Given the description of an element on the screen output the (x, y) to click on. 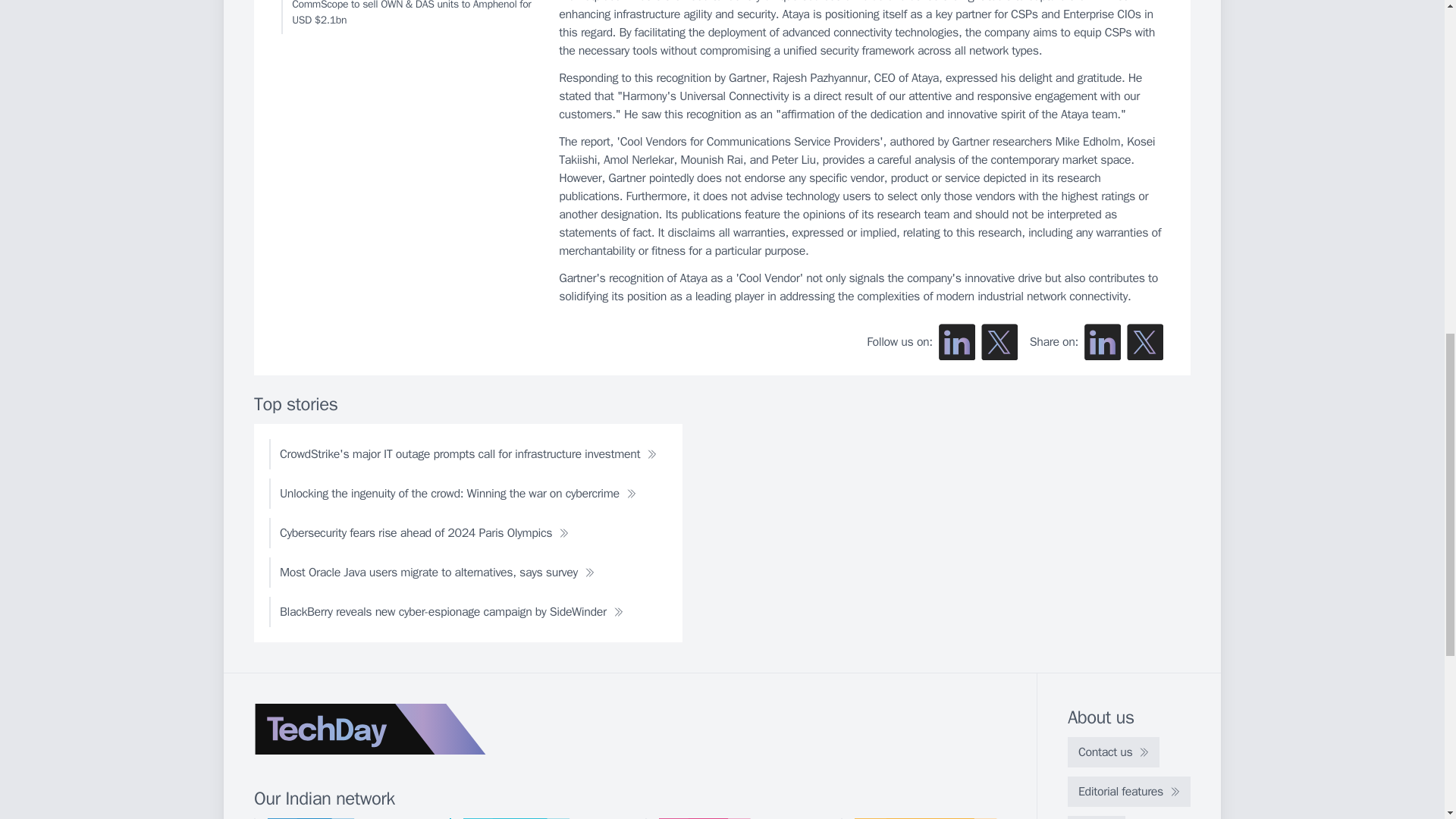
Most Oracle Java users migrate to alternatives, says survey (437, 572)
Cybersecurity fears rise ahead of 2024 Paris Olympics (424, 532)
